Given the description of an element on the screen output the (x, y) to click on. 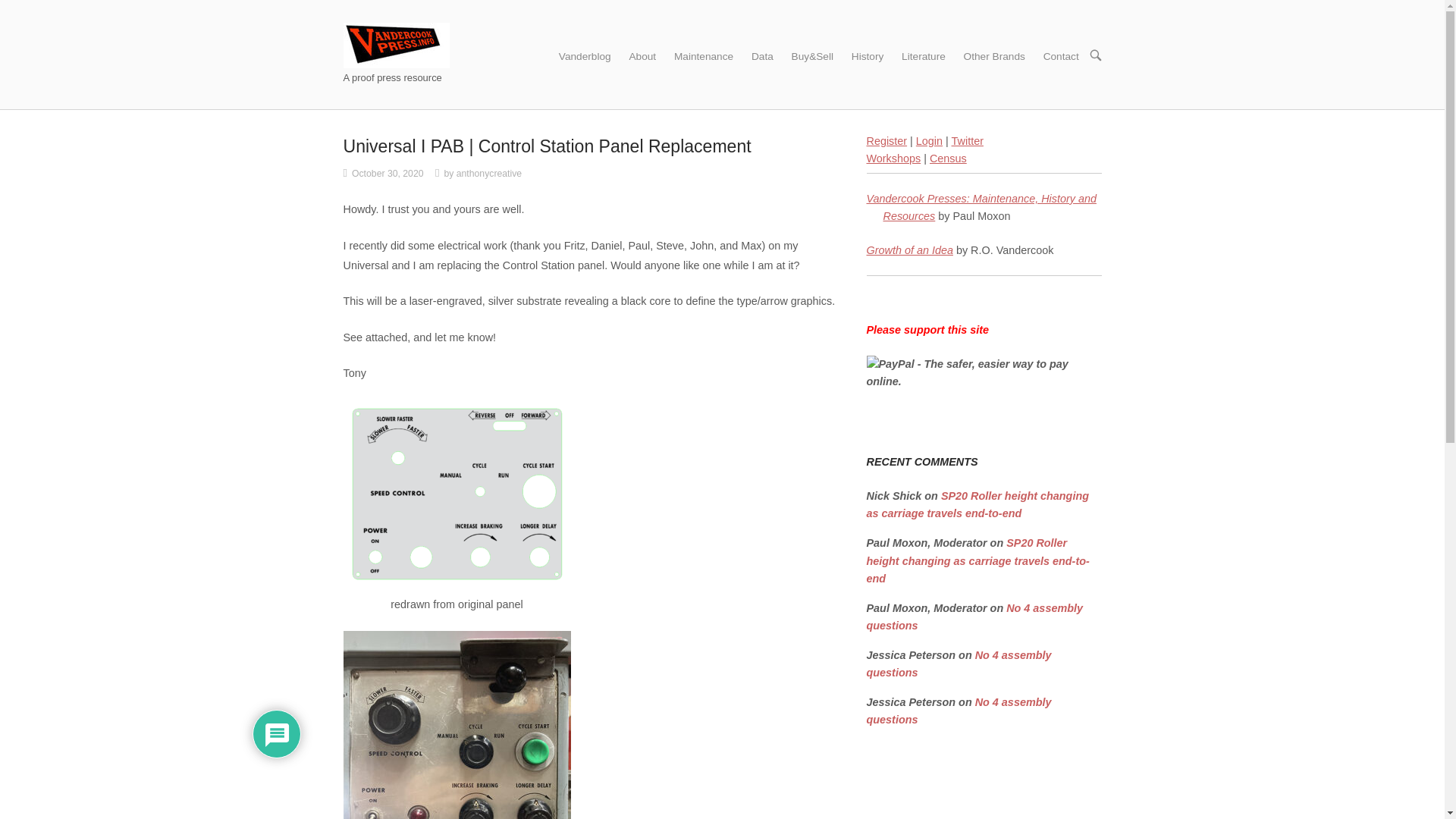
Vanderblog (584, 55)
Data (762, 55)
History (867, 55)
About (642, 55)
Home (395, 44)
Maintenance (703, 55)
